Given the description of an element on the screen output the (x, y) to click on. 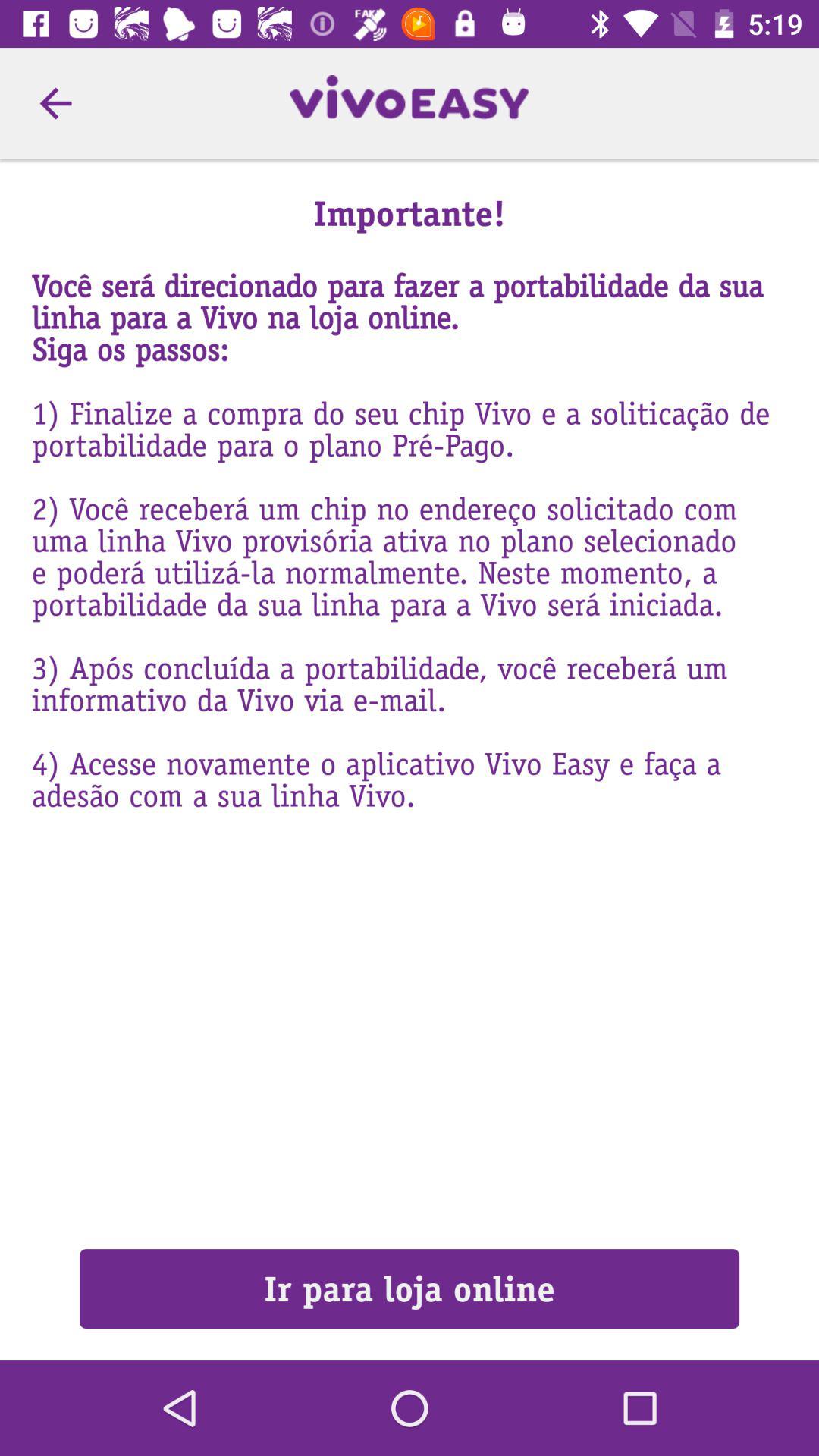
click item next to the importante! icon (55, 103)
